Given the description of an element on the screen output the (x, y) to click on. 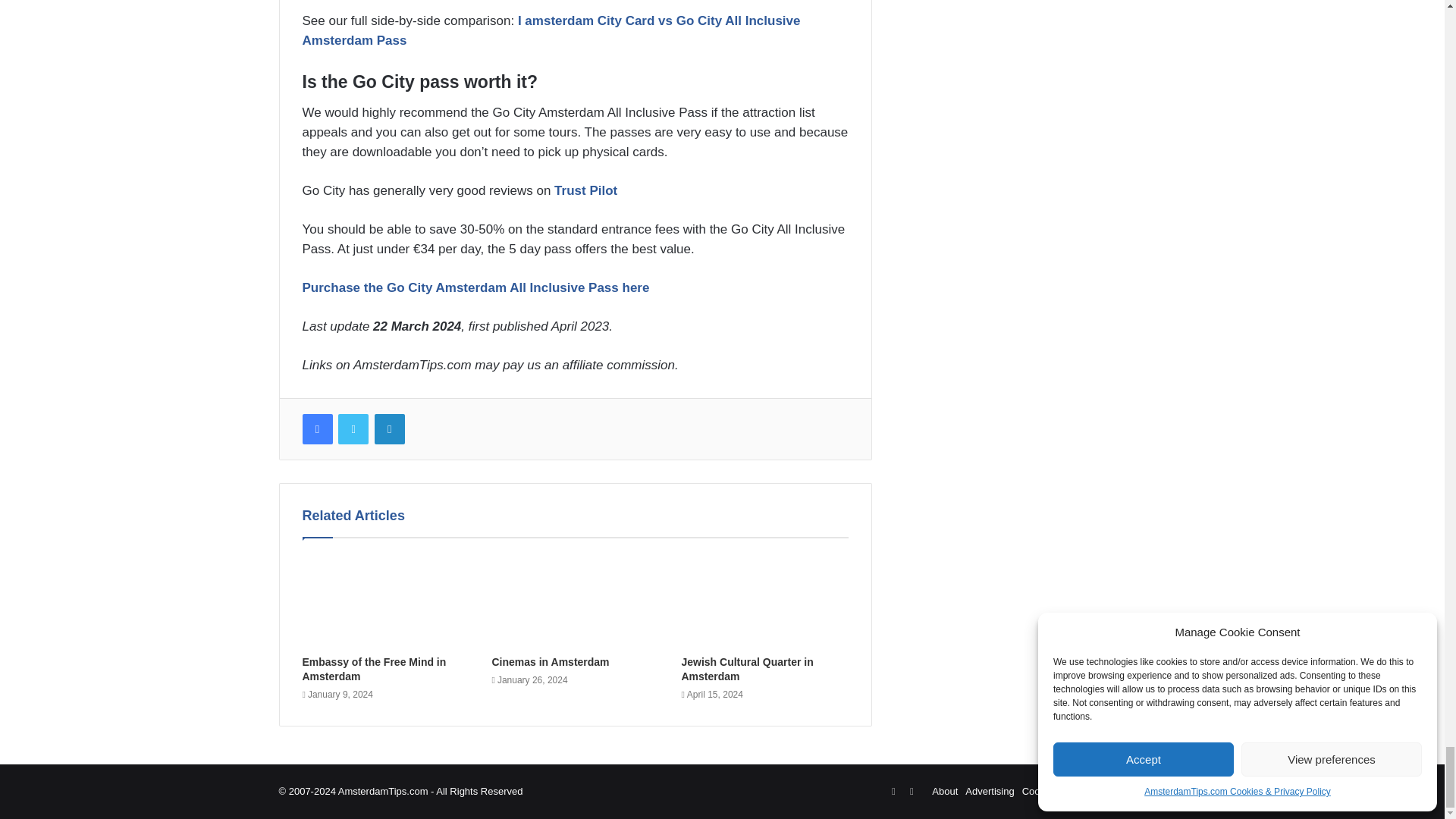
Twitter (352, 429)
LinkedIn (389, 429)
Facebook (316, 429)
